Given the description of an element on the screen output the (x, y) to click on. 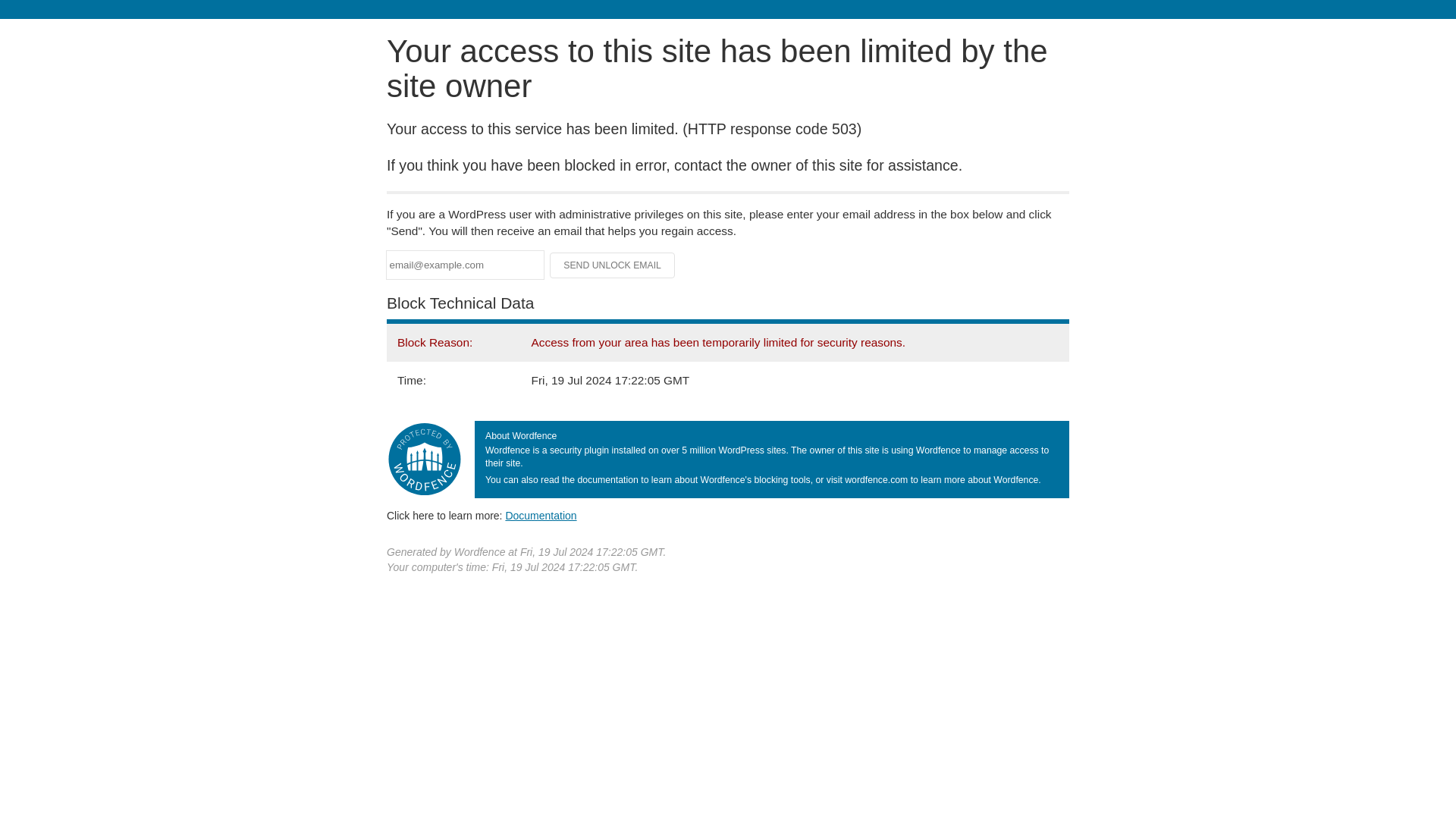
Send Unlock Email (612, 265)
Documentation (540, 515)
Send Unlock Email (612, 265)
